Given the description of an element on the screen output the (x, y) to click on. 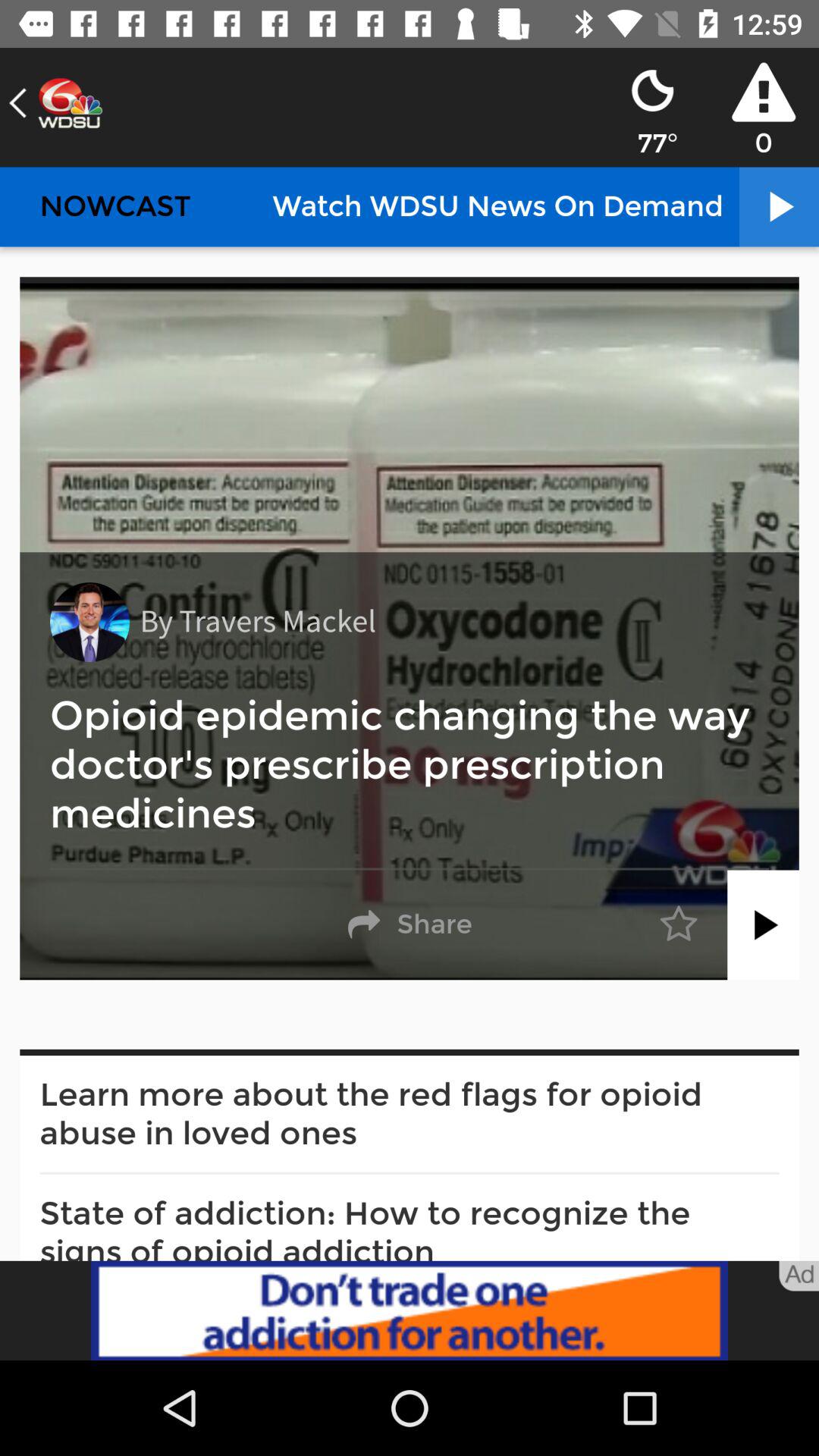
play video (763, 924)
